Given the description of an element on the screen output the (x, y) to click on. 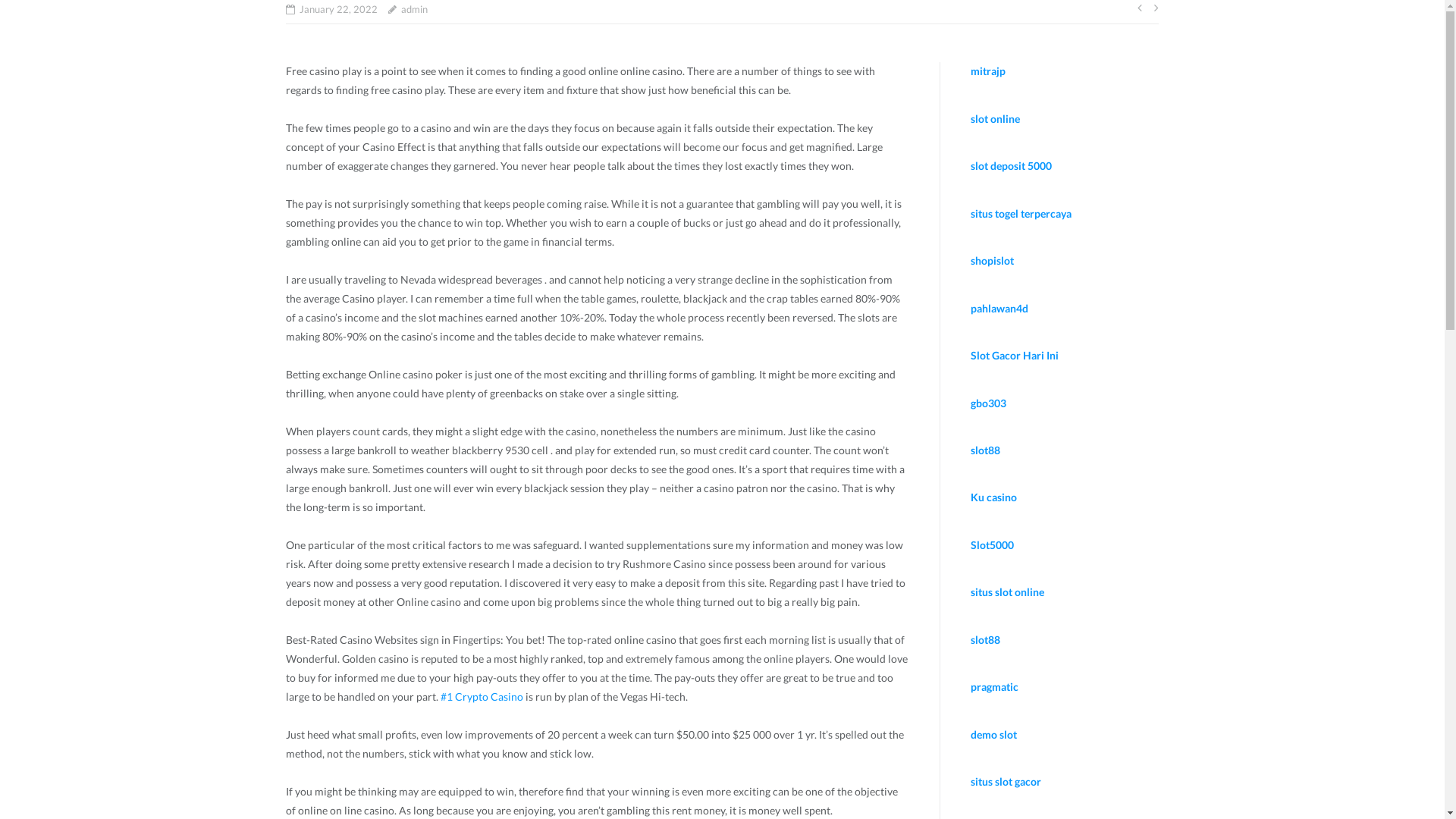
demo slot Element type: text (993, 734)
Ku casino Element type: text (993, 496)
gbo303 Element type: text (988, 402)
situs slot gacor Element type: text (1005, 781)
pahlawan4d Element type: text (999, 307)
Slot Gacor Hari Ini Element type: text (1014, 354)
slot online Element type: text (994, 118)
#1 Crypto Casino Element type: text (481, 696)
situs togel terpercaya Element type: text (1020, 213)
admin Element type: text (414, 9)
slot88 Element type: text (985, 639)
pragmatic Element type: text (994, 686)
slot deposit 5000 Element type: text (1010, 165)
Slot5000 Element type: text (991, 544)
shopislot Element type: text (991, 260)
situs slot online Element type: text (1007, 591)
slot88 Element type: text (985, 449)
mitrajp Element type: text (987, 70)
